Given the description of an element on the screen output the (x, y) to click on. 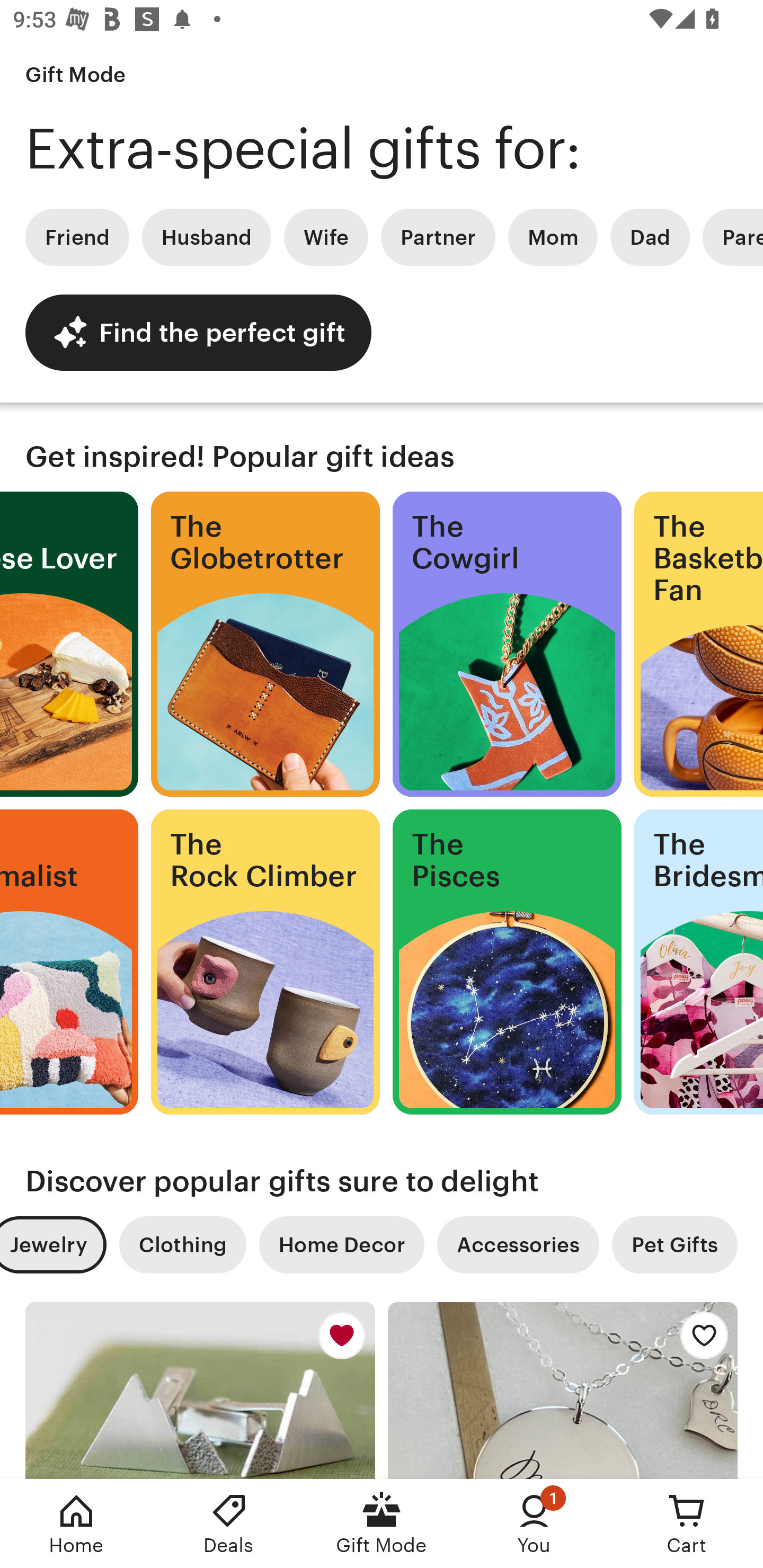
Friend (76, 237)
Husband (206, 237)
Wife (325, 237)
Partner (437, 237)
Mom (552, 237)
Dad (649, 237)
Find the perfect gift (198, 332)
The Globetrotter (265, 644)
The Cowgirl (506, 644)
The Rock Climber (265, 961)
The Pisces (506, 961)
Jewelry (53, 1244)
Clothing (182, 1244)
Home Decor (341, 1244)
Accessories (517, 1244)
Pet Gifts (674, 1244)
Home (76, 1523)
Deals (228, 1523)
You, 1 new notification You (533, 1523)
Cart (686, 1523)
